Given the description of an element on the screen output the (x, y) to click on. 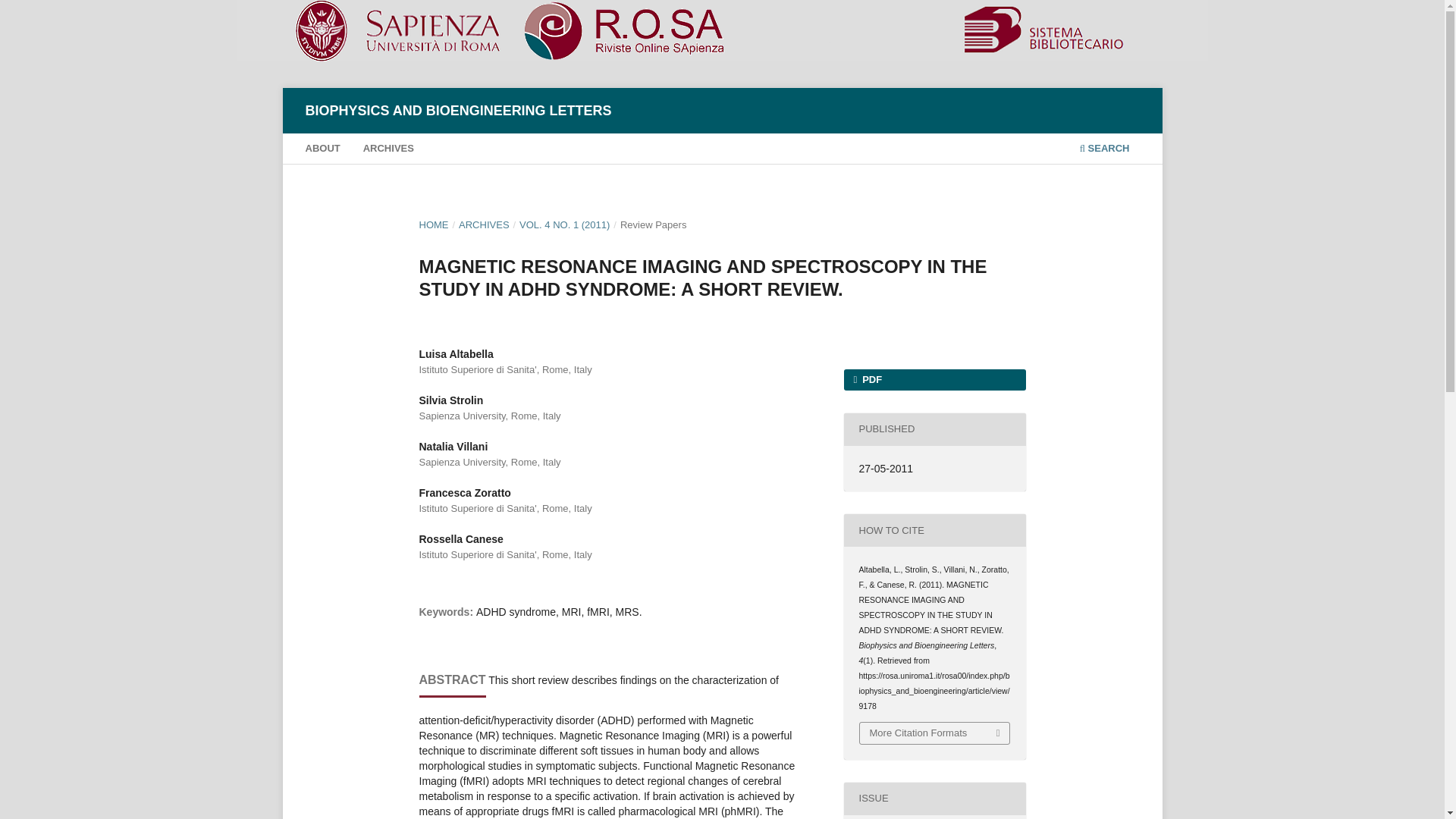
PDF (934, 379)
ARCHIVES (483, 224)
HOME (433, 224)
ARCHIVES (388, 150)
BIOPHYSICS AND BIOENGINEERING LETTERS (457, 110)
SEARCH (1104, 150)
ABOUT (322, 150)
More Citation Formats (935, 732)
